Given the description of an element on the screen output the (x, y) to click on. 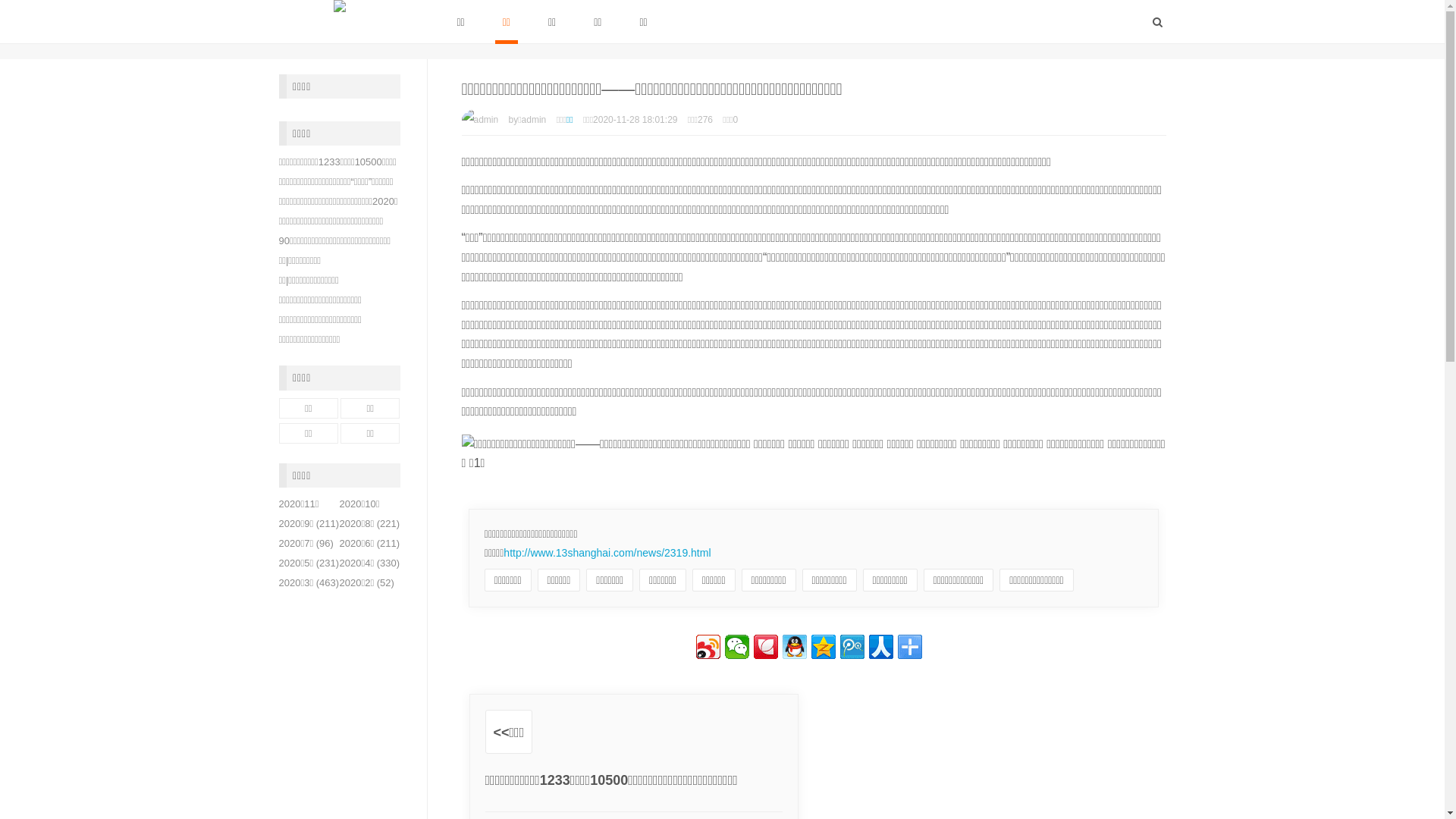
http://www.13shanghai.com/news/2319.html Element type: text (606, 552)
